Given the description of an element on the screen output the (x, y) to click on. 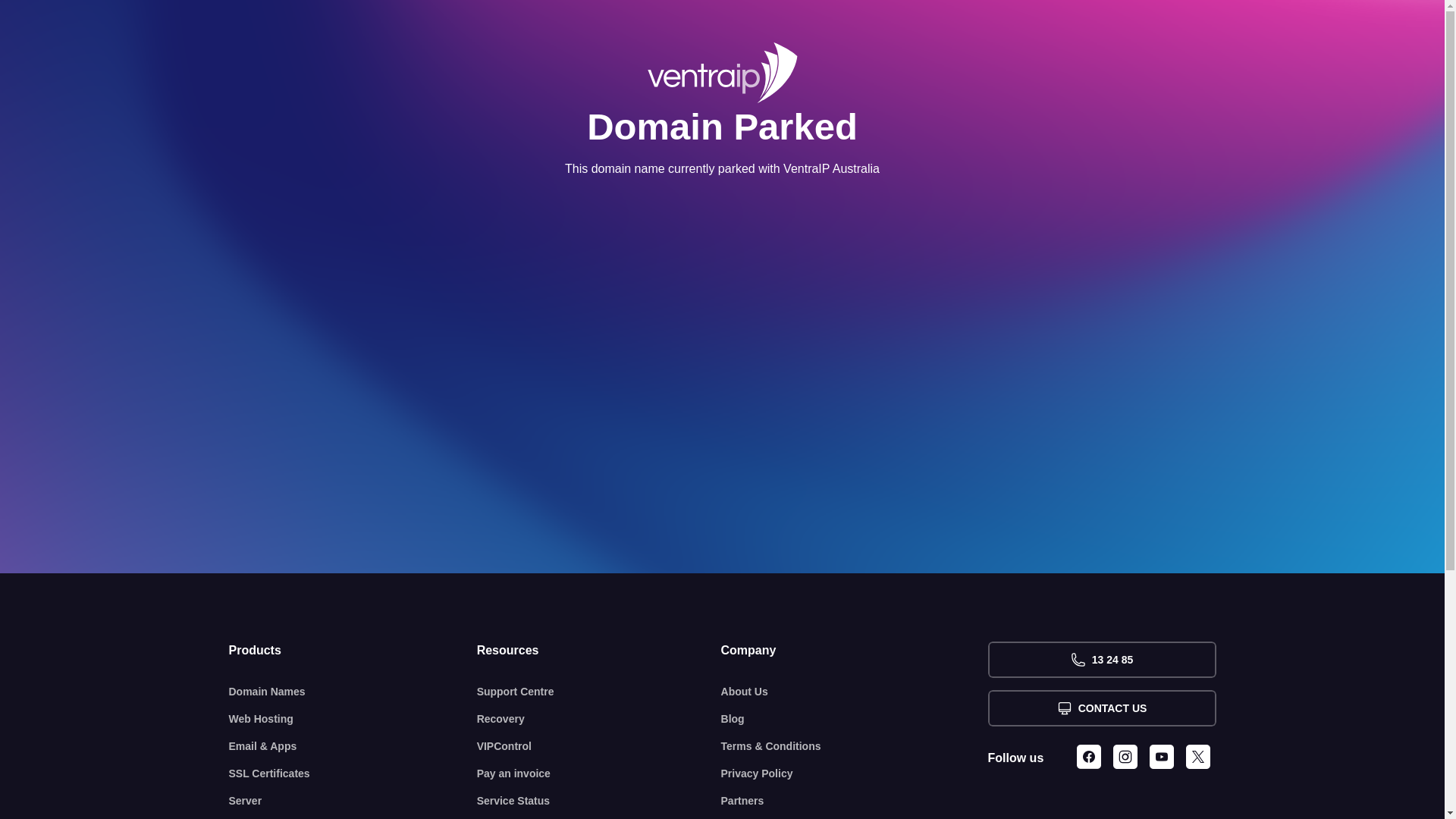
Privacy Policy Element type: text (854, 773)
SSL Certificates Element type: text (352, 773)
CONTACT US Element type: text (1101, 708)
13 24 85 Element type: text (1101, 659)
Recovery Element type: text (598, 718)
Domain Names Element type: text (352, 691)
Web Hosting Element type: text (352, 718)
Partners Element type: text (854, 800)
Service Status Element type: text (598, 800)
Email & Apps Element type: text (352, 745)
Server Element type: text (352, 800)
VIPControl Element type: text (598, 745)
About Us Element type: text (854, 691)
Blog Element type: text (854, 718)
Support Centre Element type: text (598, 691)
Pay an invoice Element type: text (598, 773)
Terms & Conditions Element type: text (854, 745)
